Given the description of an element on the screen output the (x, y) to click on. 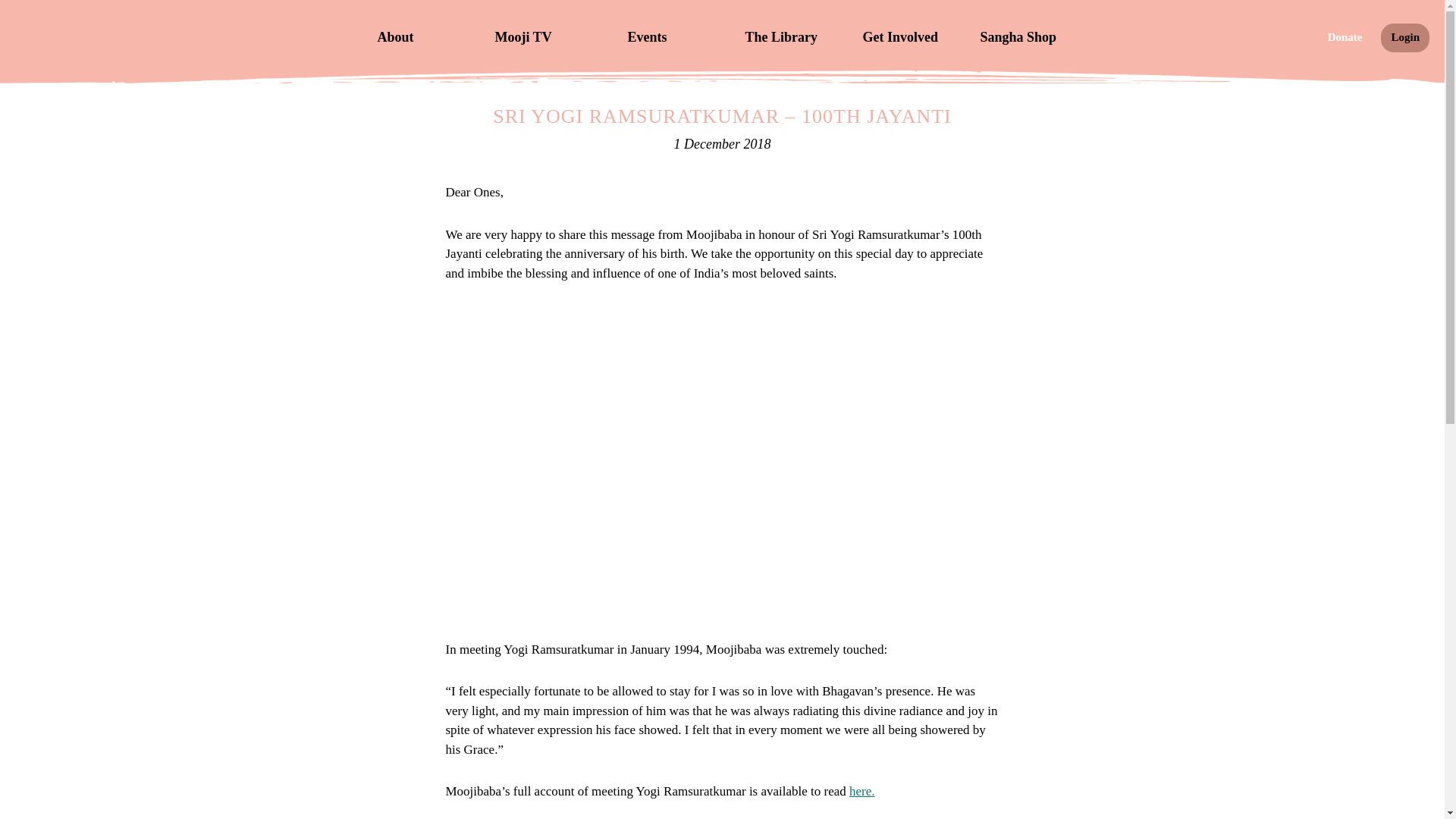
The Library (788, 36)
Mooji (72, 43)
Donate (1344, 37)
Login (1404, 37)
About (420, 36)
Mooji TV (538, 36)
Events (670, 36)
Sangha Shop (1023, 36)
Get Involved (905, 36)
